Given the description of an element on the screen output the (x, y) to click on. 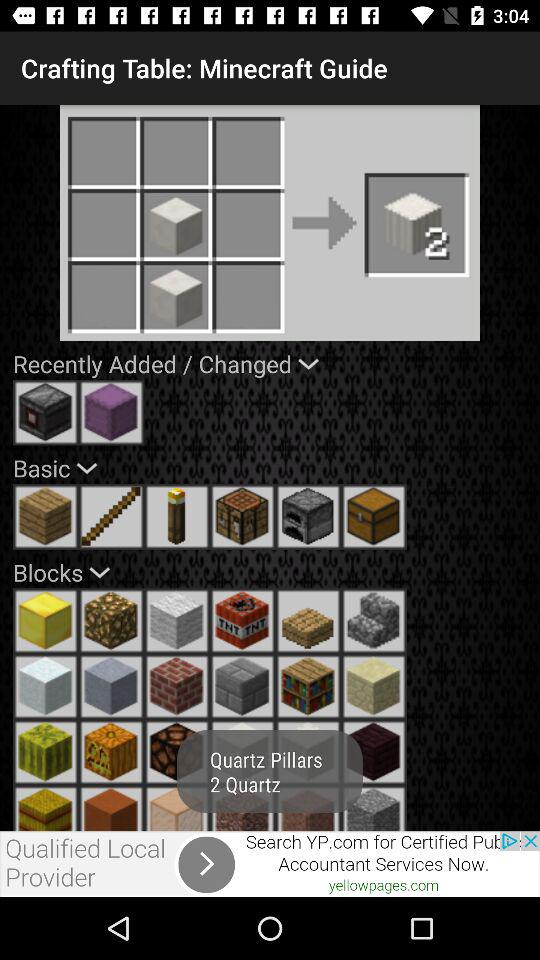
select the quartz (242, 752)
